Given the description of an element on the screen output the (x, y) to click on. 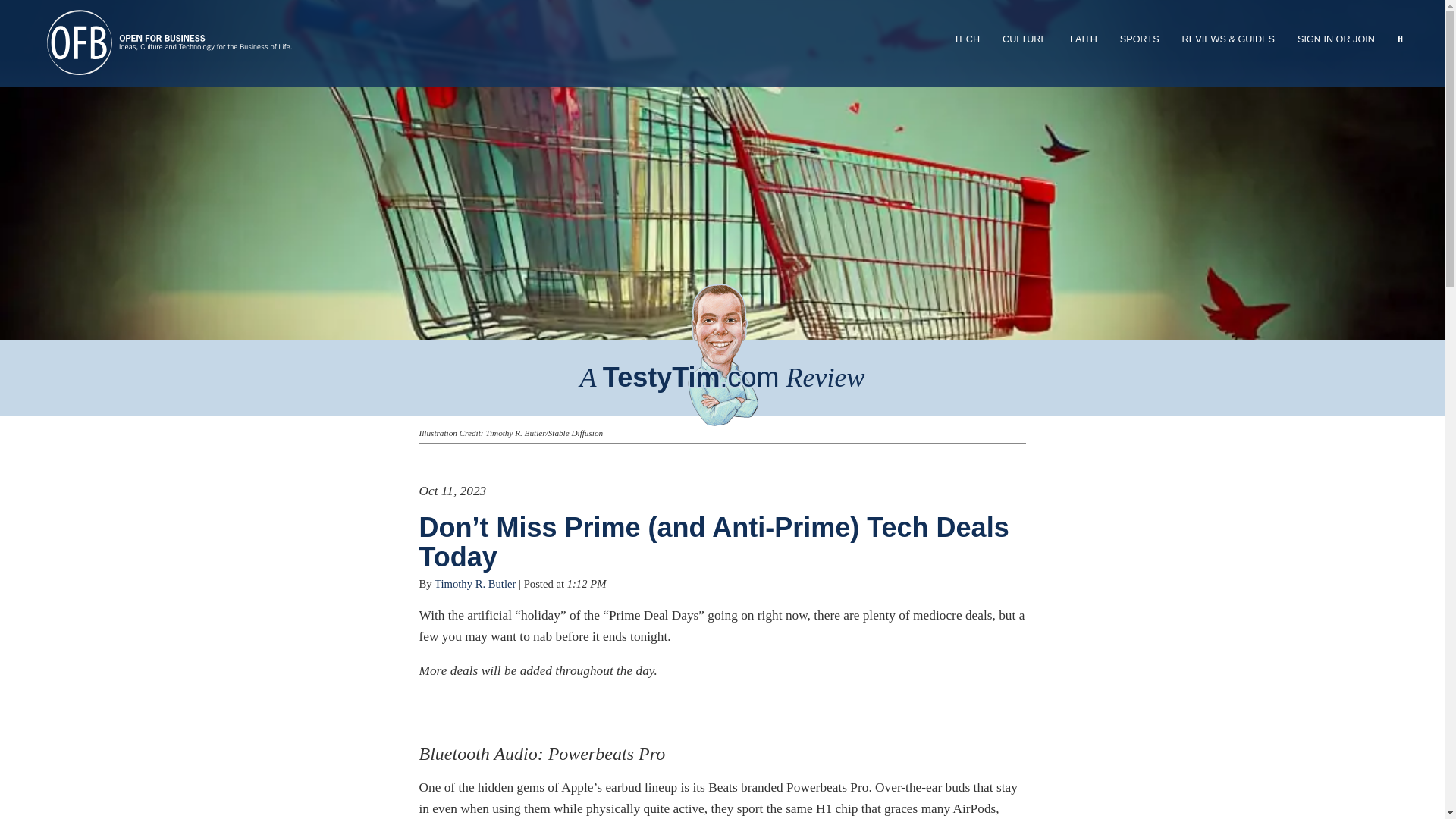
SPORTS (1139, 39)
SEARCH (1399, 39)
CULTURE (1024, 39)
FAITH (1083, 39)
SIGN IN OR JOIN (1335, 39)
TECH (966, 39)
Timothy R. Butler (474, 583)
